Given the description of an element on the screen output the (x, y) to click on. 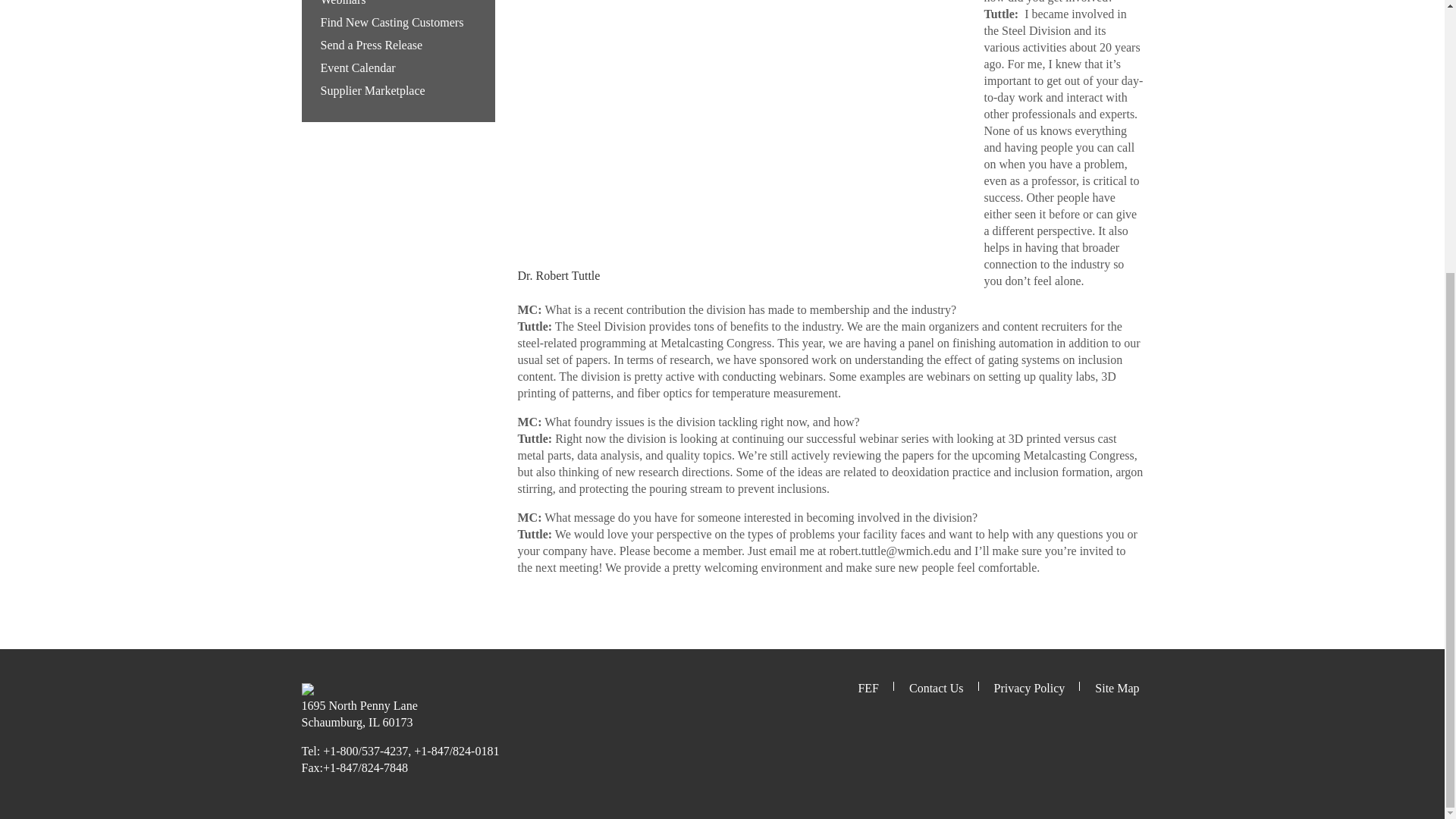
Find New Casting Customers (391, 21)
Webinars (342, 2)
Webinars (342, 2)
Privacy Policy (1029, 687)
Supplier Marketplace (372, 90)
FEF (868, 687)
Contact Us (935, 687)
Site Map (1116, 687)
Send a Press Release (371, 44)
Supplier Marketplace (372, 90)
